Given the description of an element on the screen output the (x, y) to click on. 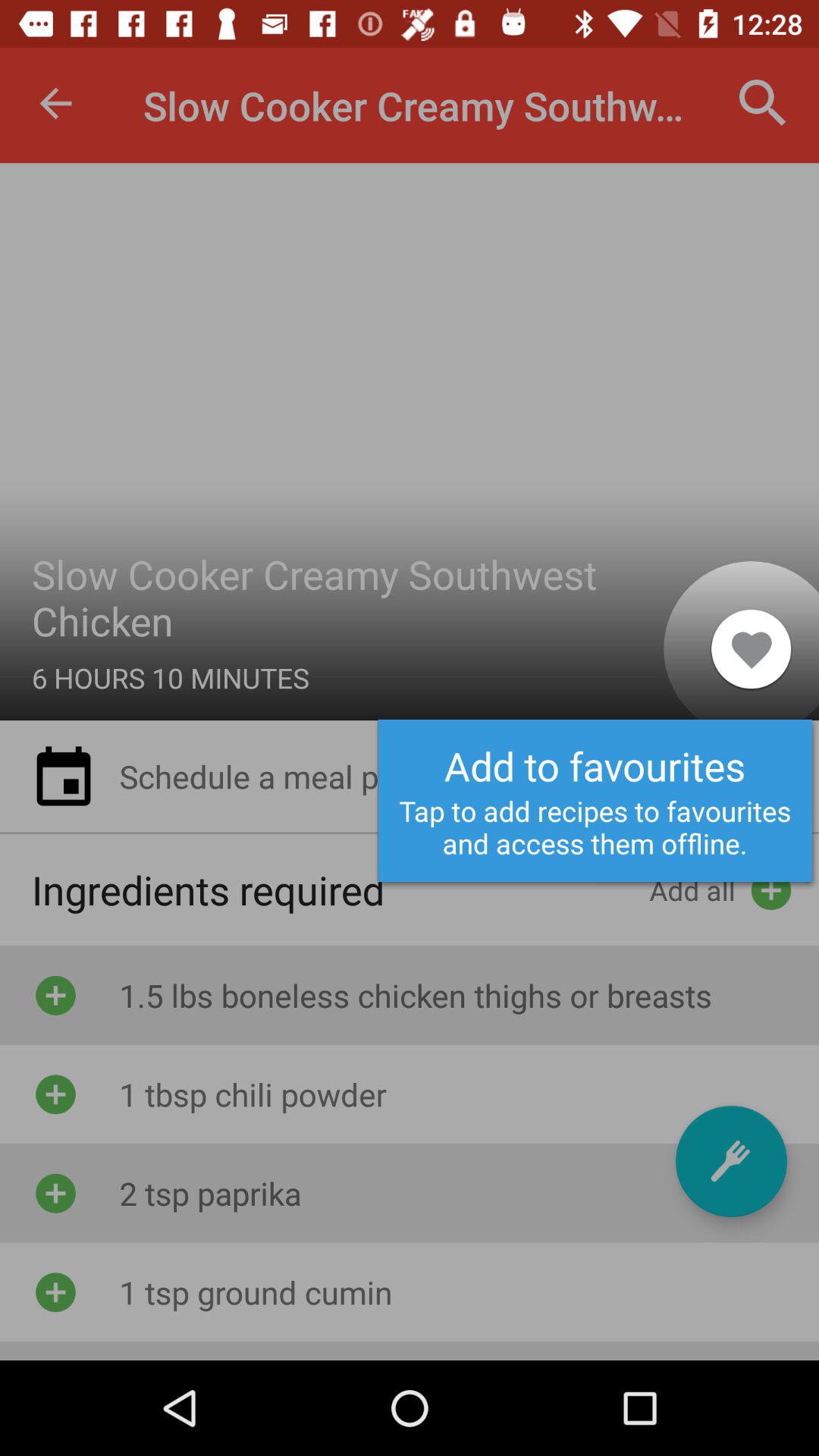
select icon next to the slow cooker creamy item (751, 648)
